Given the description of an element on the screen output the (x, y) to click on. 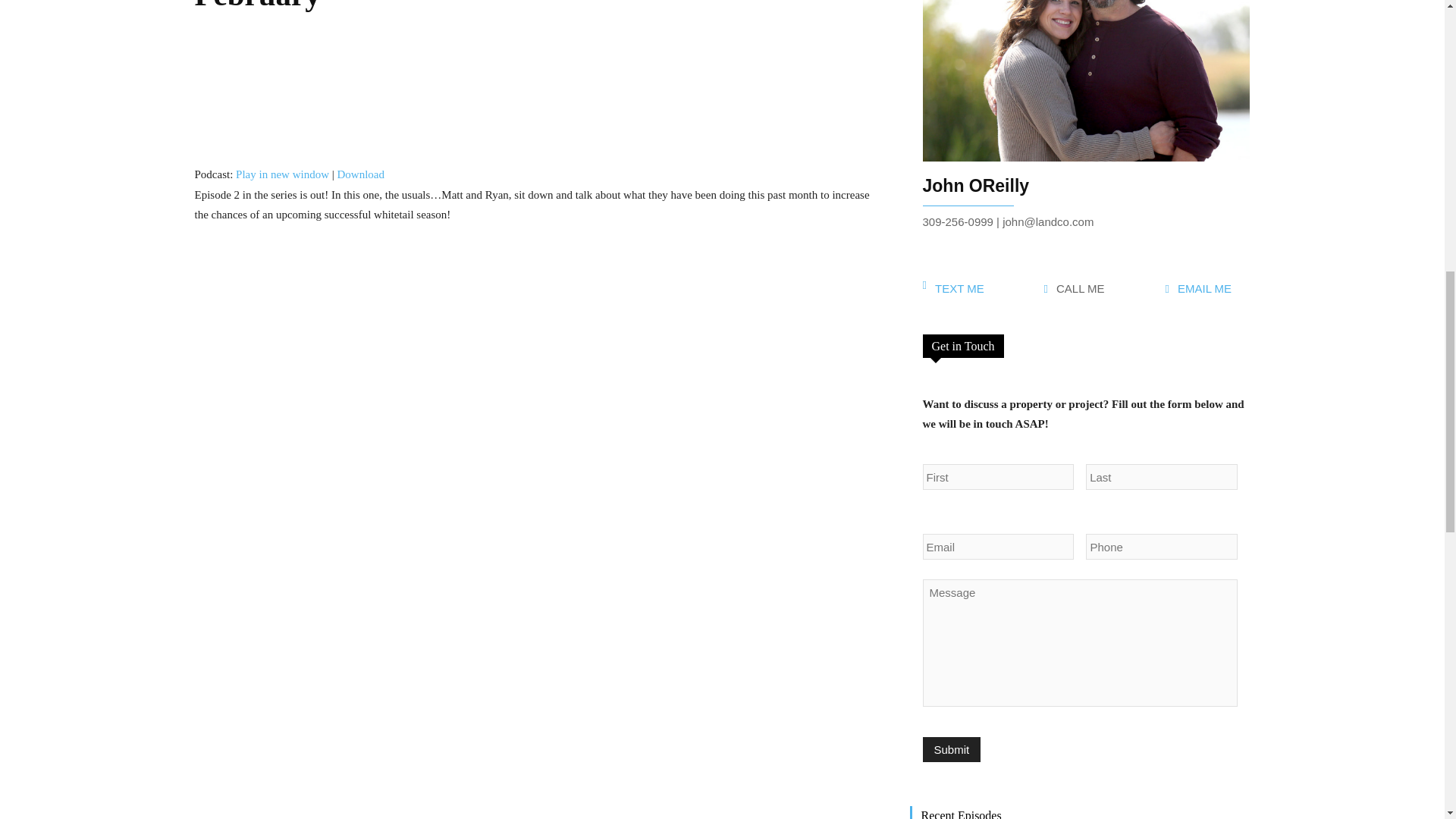
Blubrry Podcast Player (539, 95)
Submit (950, 749)
